Given the description of an element on the screen output the (x, y) to click on. 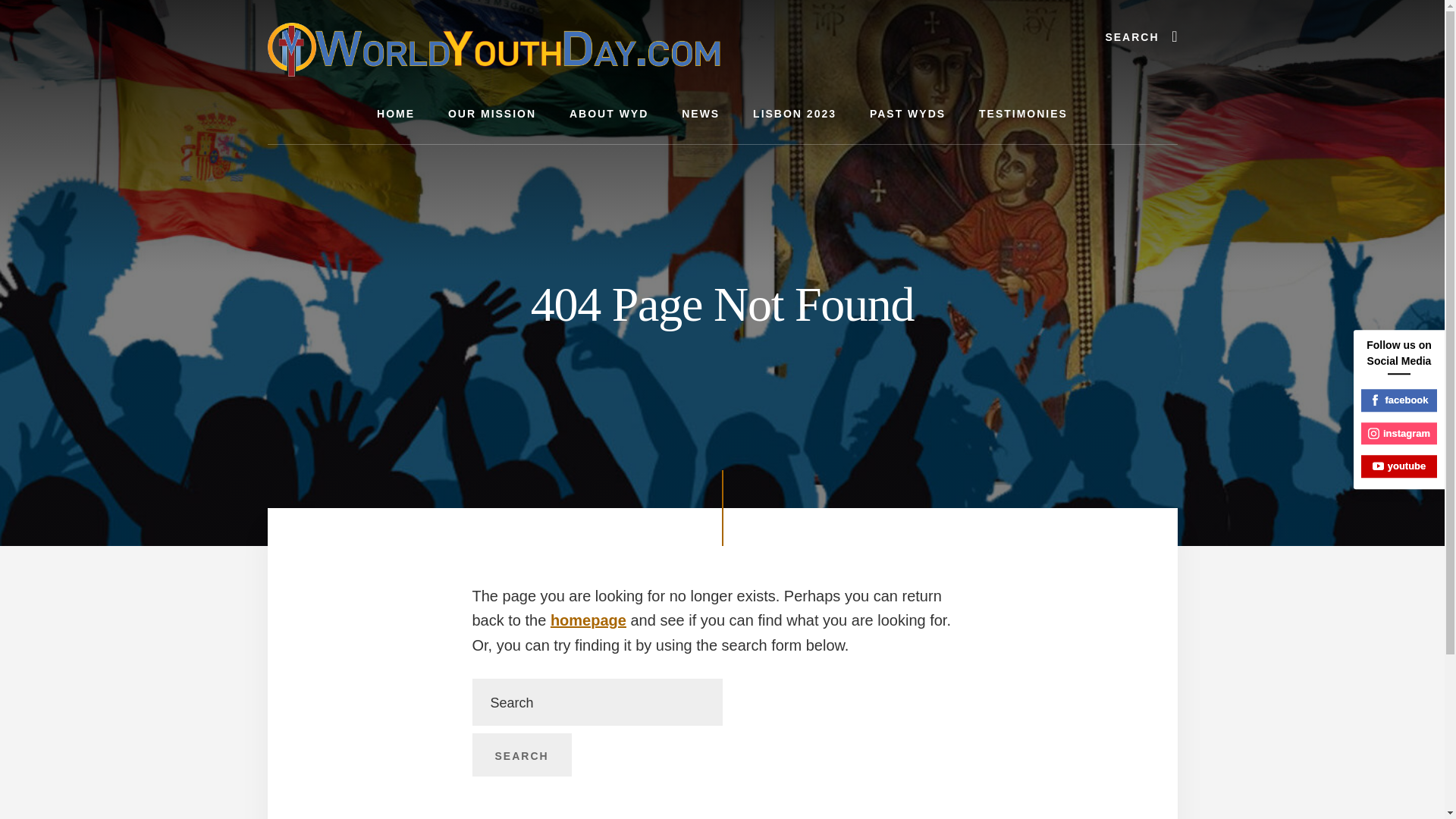
facebook (1399, 400)
instagram (1399, 433)
NEWS (700, 114)
LISBON 2023 (794, 114)
HOME (395, 114)
homepage (588, 619)
youtube (1399, 466)
PAST WYDS (907, 114)
